Given the description of an element on the screen output the (x, y) to click on. 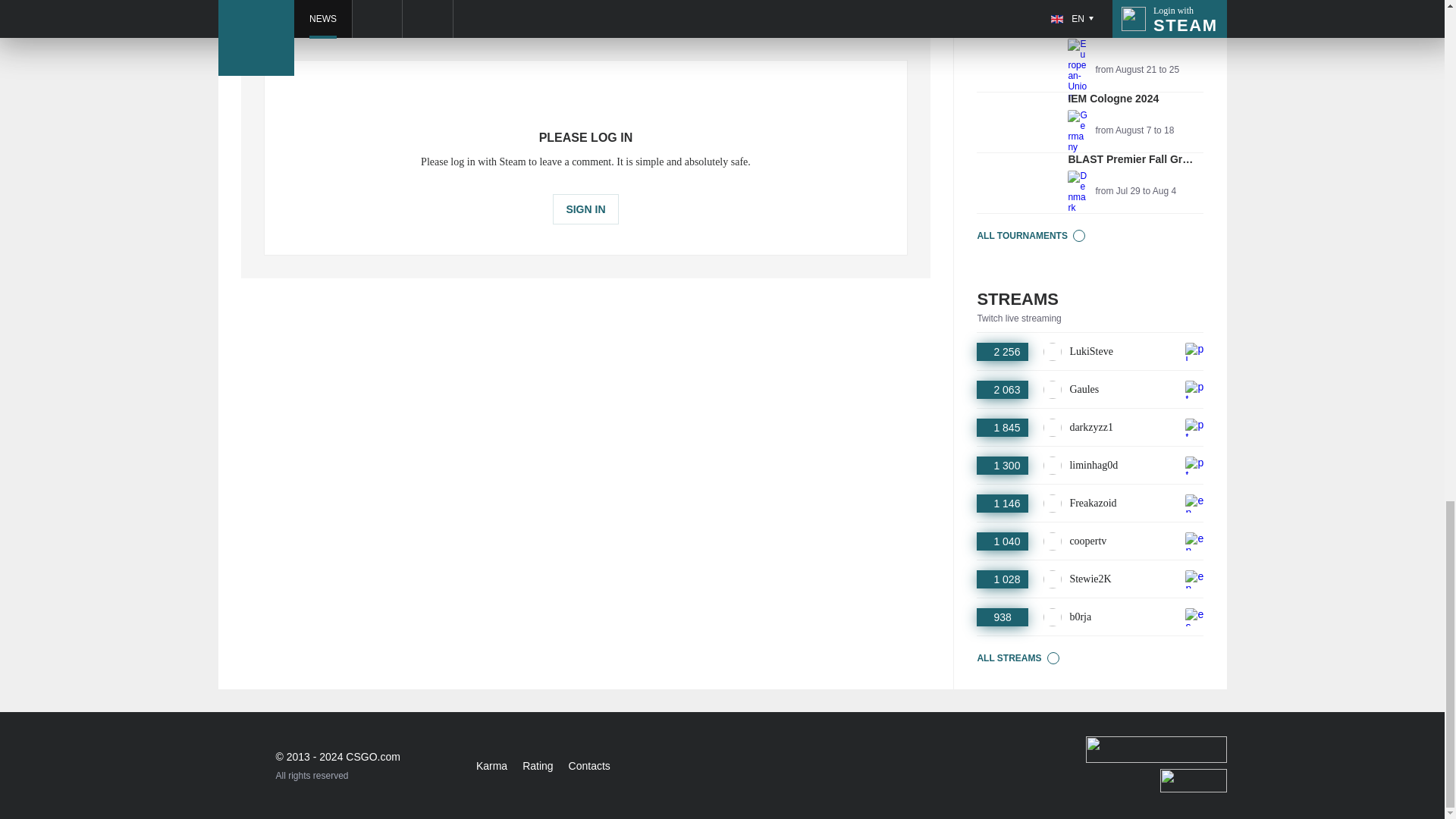
SIGN IN (1090, 122)
